Given the description of an element on the screen output the (x, y) to click on. 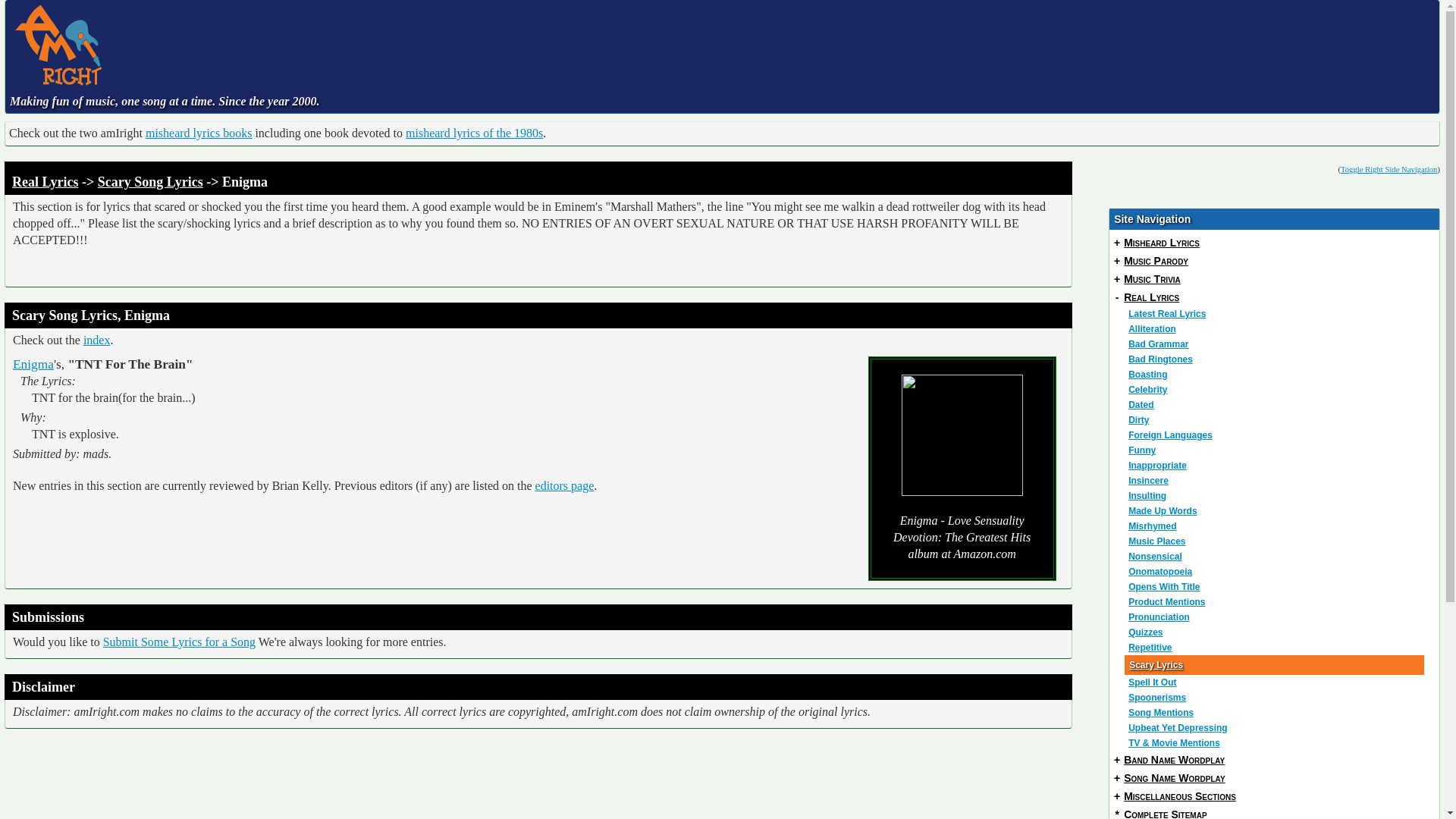
Dated (1275, 404)
Insincere (1275, 480)
Music Trivia (1152, 278)
misheard lyrics of the 1980s (474, 132)
Boasting (1275, 374)
index (96, 339)
Funny (1275, 450)
Enigma (33, 364)
Real Lyrics (44, 181)
Foreign Languages (1275, 435)
Onomatopoeia (1275, 571)
Song lyrics for Enigma (33, 364)
Product Mentions (1275, 601)
Real Lyrics (1151, 297)
Spell It Out (1275, 682)
